Given the description of an element on the screen output the (x, y) to click on. 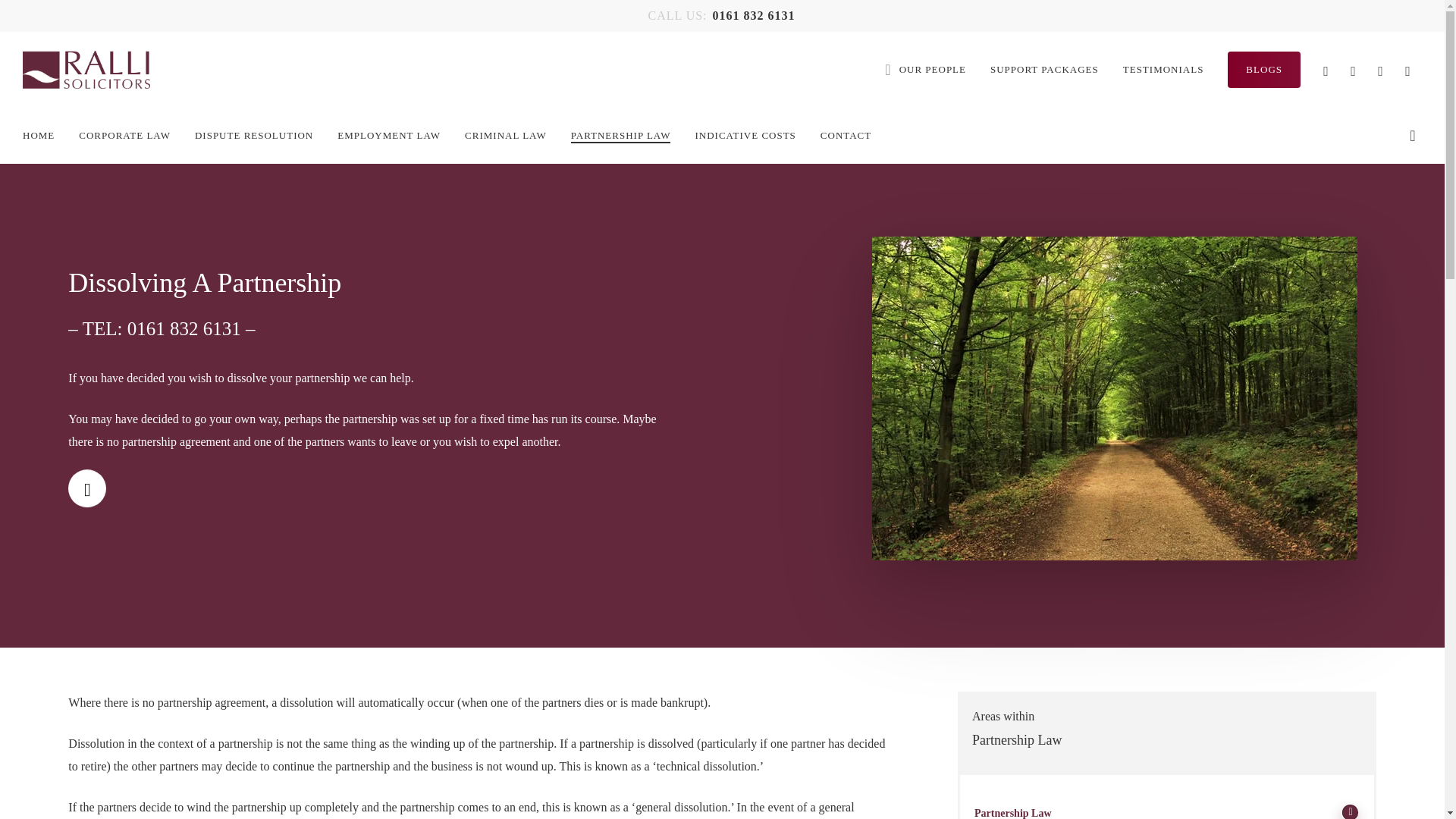
SUPPORT PACKAGES (1044, 69)
FACEBOOK (1353, 68)
INSTAGRAM (1408, 68)
TESTIMONIALS (1163, 69)
DISPUTE RESOLUTION (254, 135)
BLOGS (1263, 69)
TWITTER (1326, 68)
OUR PEOPLE (925, 69)
CORPORATE LAW (124, 135)
HOME (39, 135)
LINKEDIN (1380, 68)
CALL US: 0161 832 6131 (721, 15)
